Given the description of an element on the screen output the (x, y) to click on. 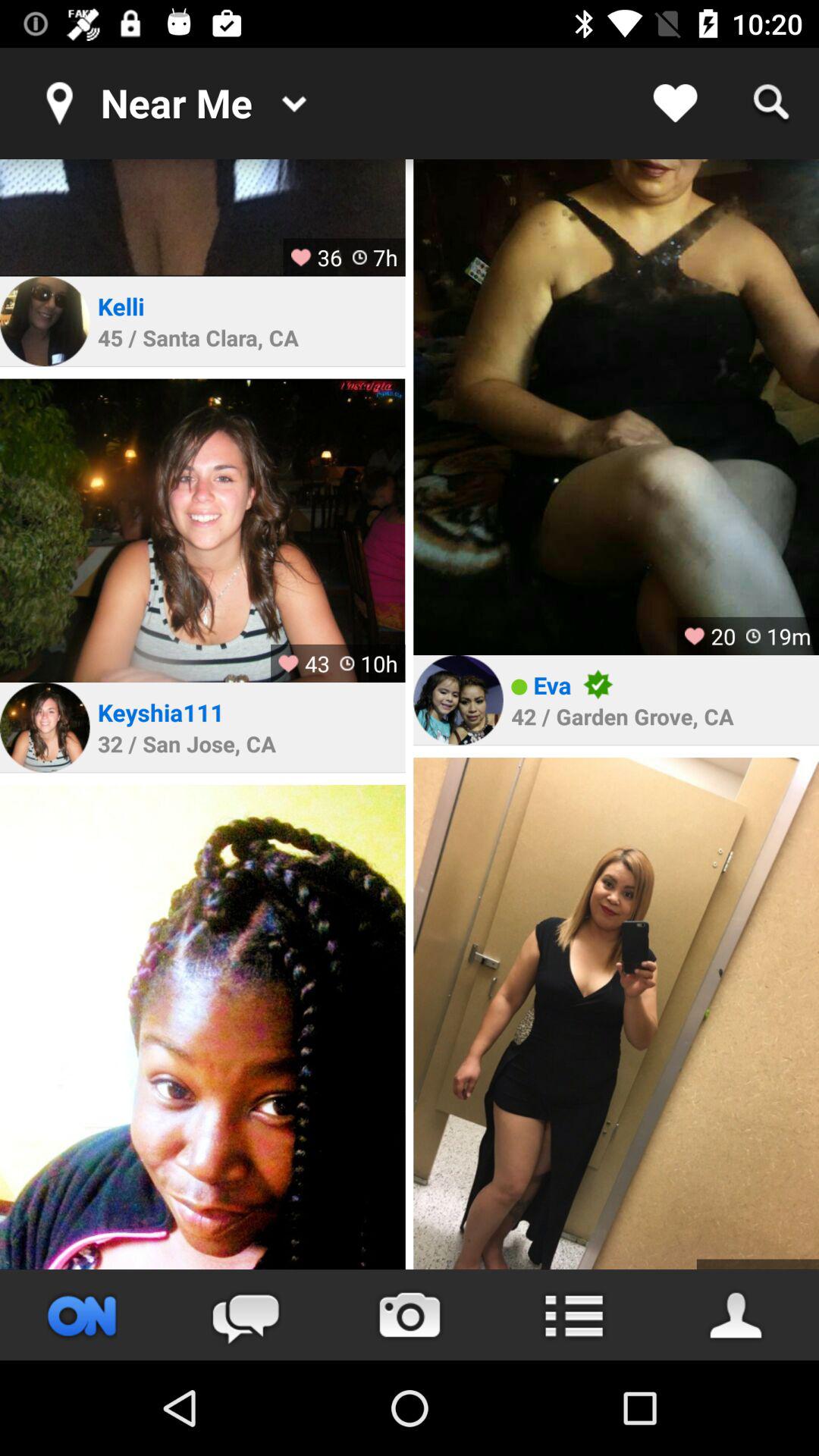
friend profile image (44, 321)
